Given the description of an element on the screen output the (x, y) to click on. 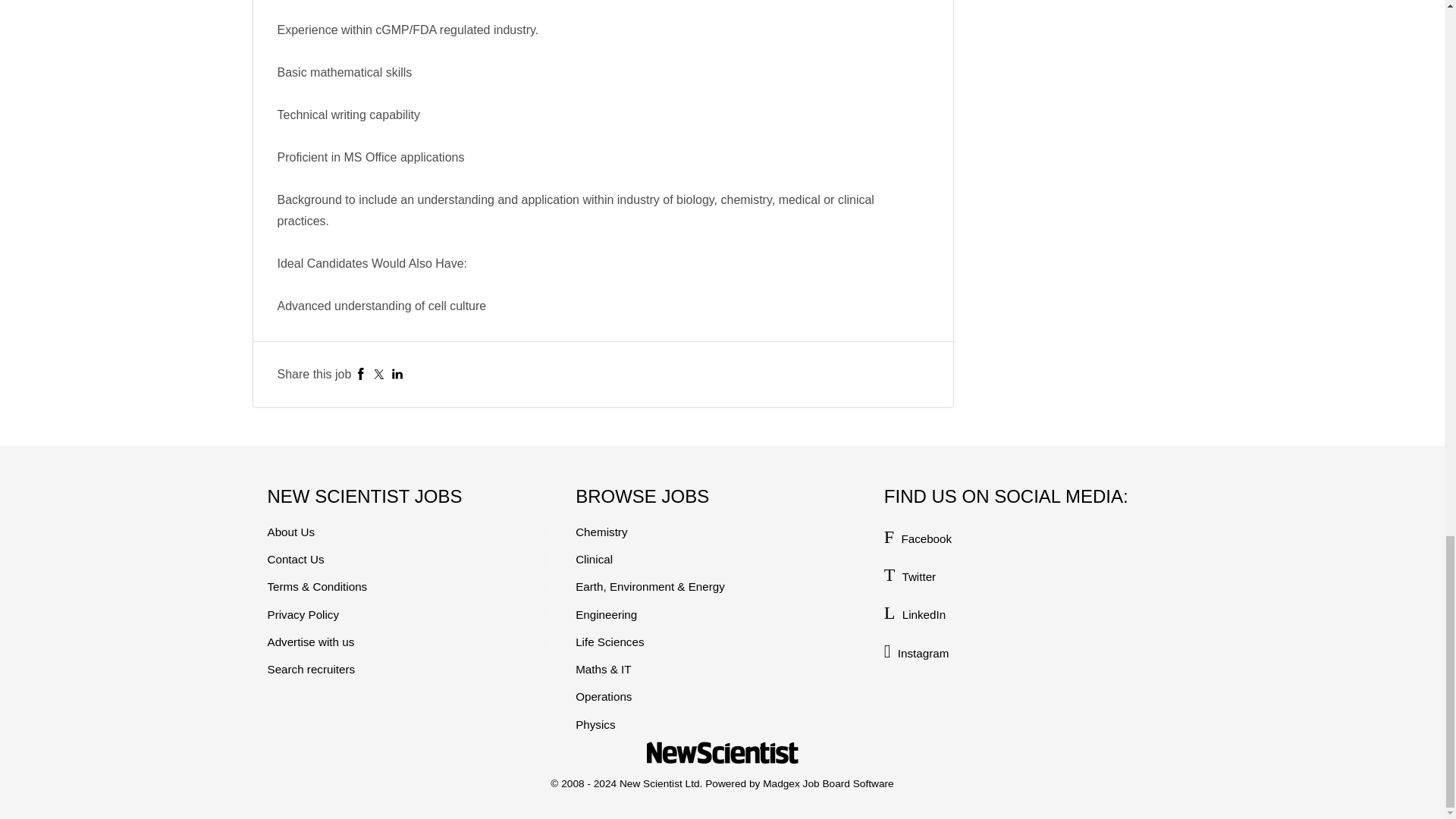
LinkedIn (397, 373)
Twitter (378, 373)
Facebook (360, 373)
